Given the description of an element on the screen output the (x, y) to click on. 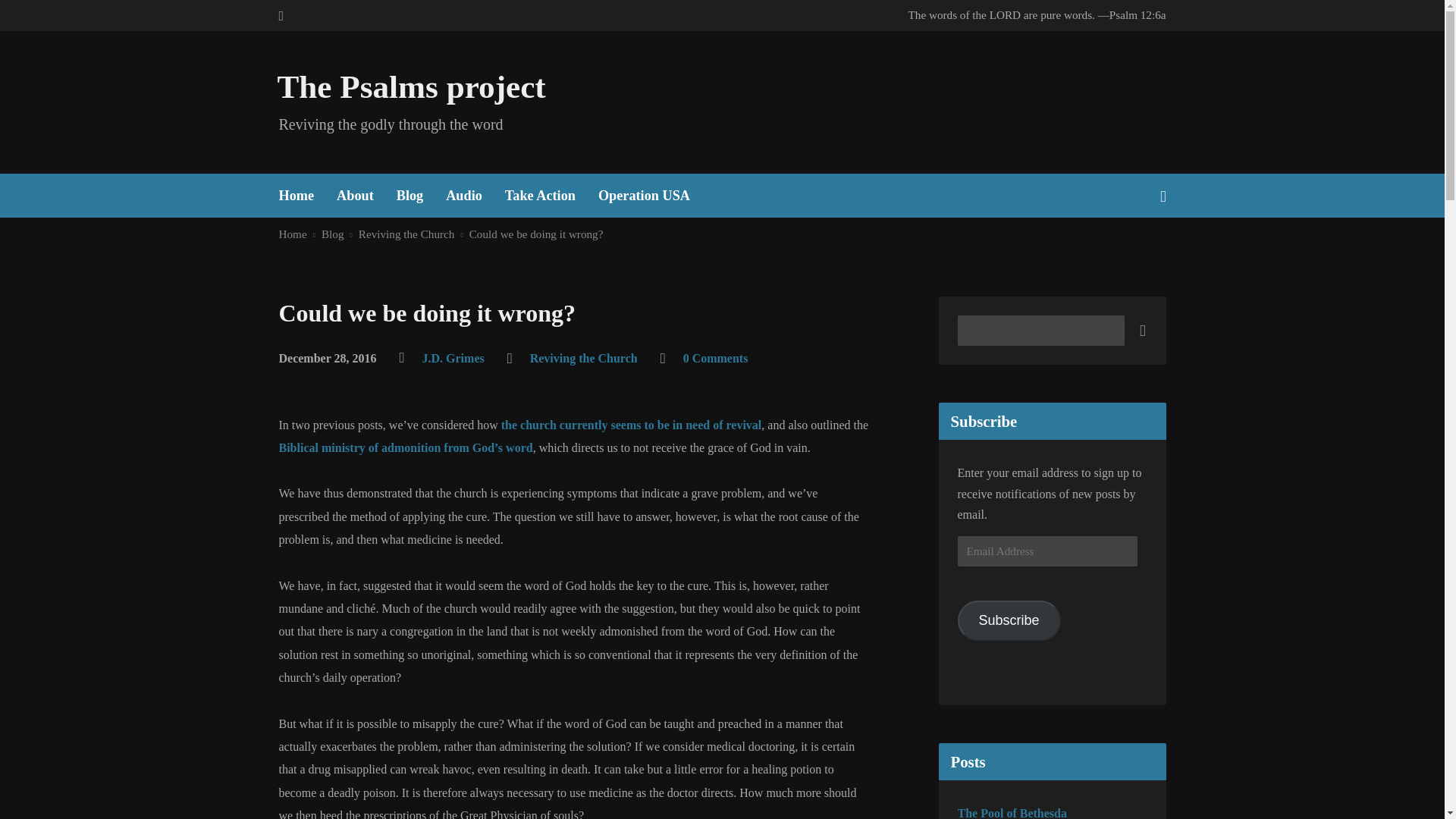
Subscribe (1007, 620)
Could we be doing it wrong? (536, 233)
Operation USA (644, 195)
About (355, 195)
Blog (409, 195)
Reviving the Church (583, 358)
Audio (463, 195)
The Pool of Bethesda (1010, 812)
Take Action (540, 195)
0 Comments (715, 358)
Home (296, 195)
Blog (332, 233)
Reviving the Church (406, 233)
the church currently seems to be in need of revival (630, 424)
Home (293, 233)
